Given the description of an element on the screen output the (x, y) to click on. 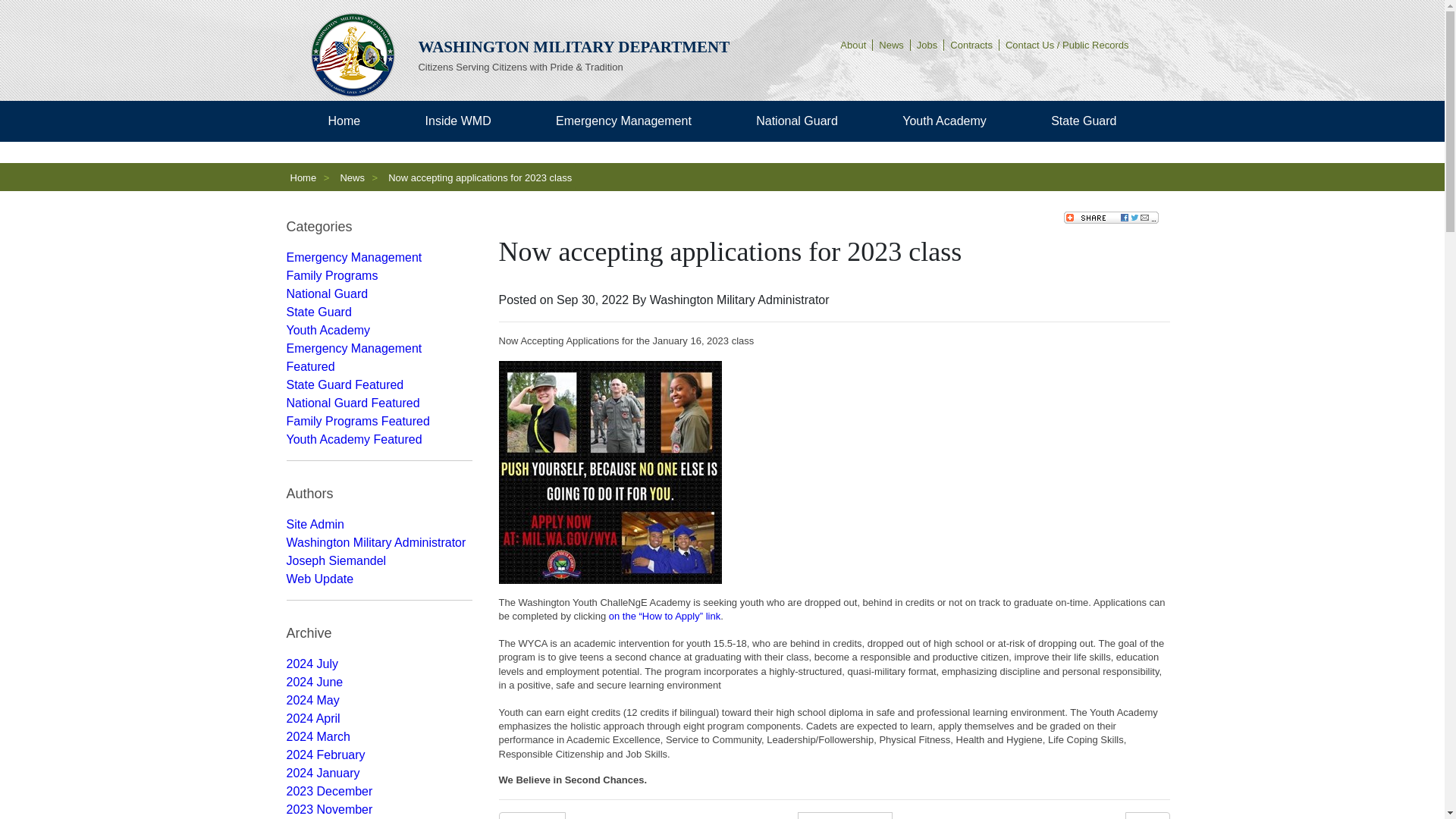
News (891, 44)
About (853, 44)
Home (344, 120)
Inside WMD (457, 120)
Contracts (970, 44)
Jobs (927, 44)
